Given the description of an element on the screen output the (x, y) to click on. 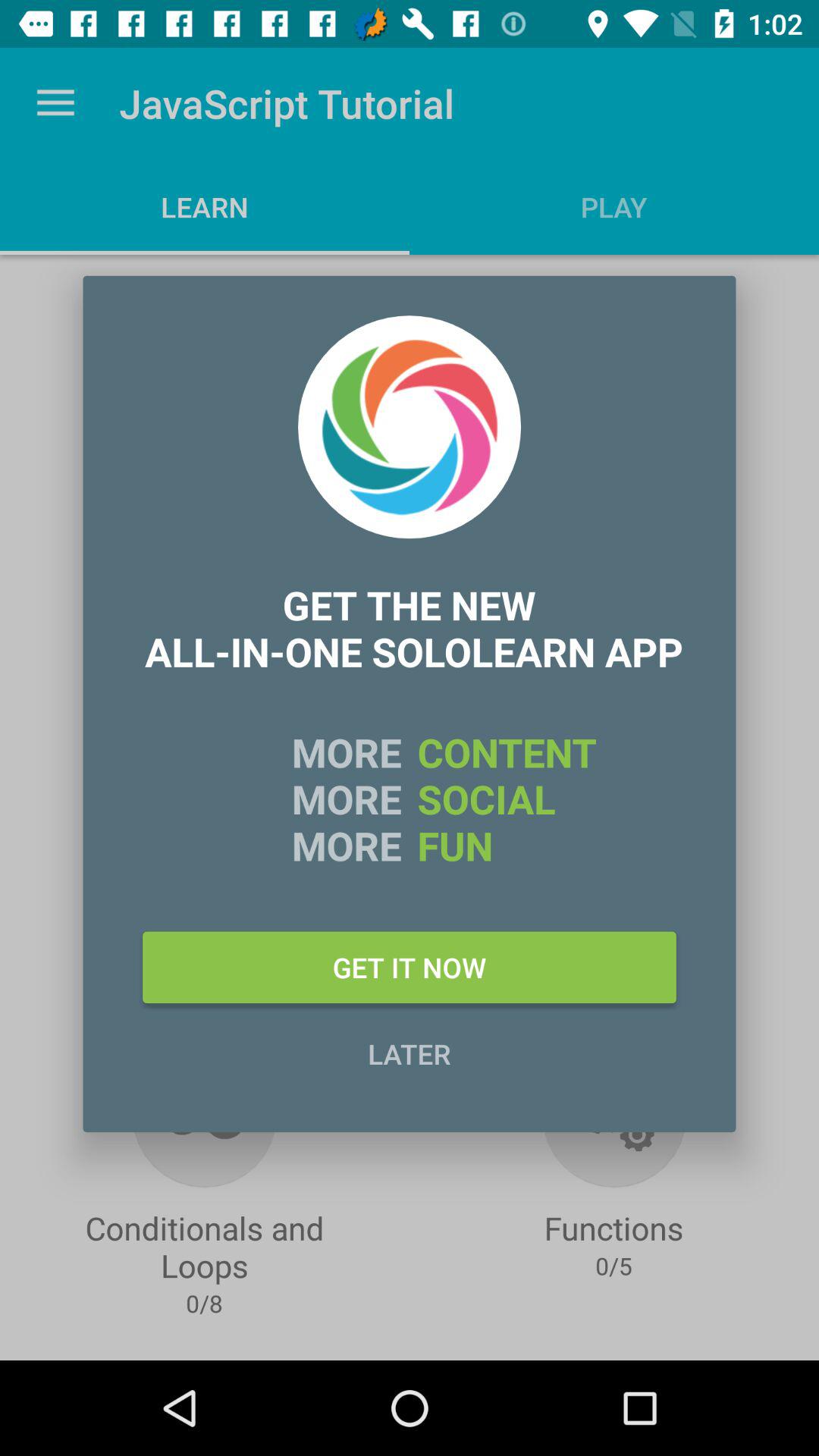
select icon above later icon (409, 967)
